Given the description of an element on the screen output the (x, y) to click on. 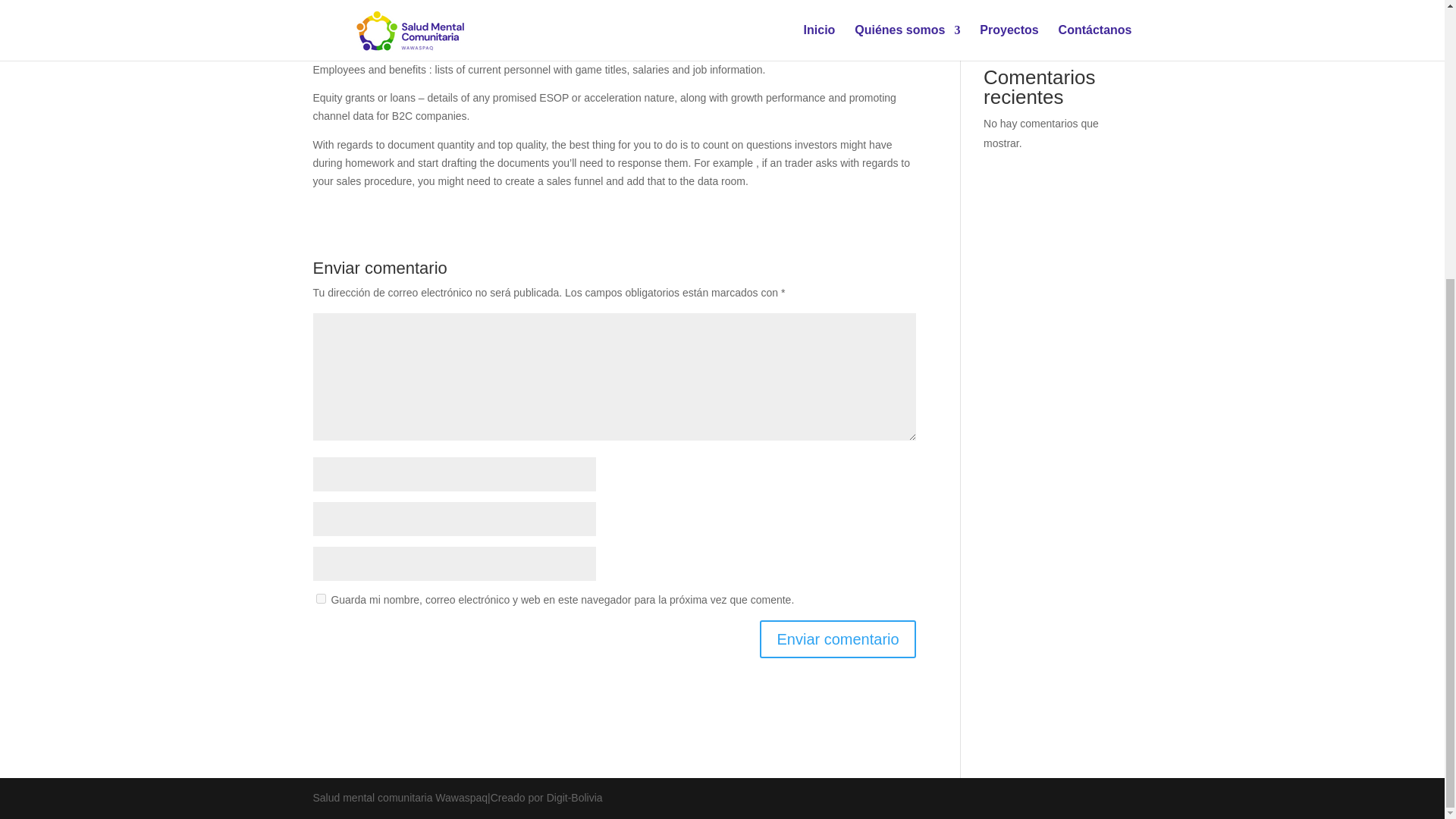
yes (319, 598)
Enviar comentario (837, 638)
Pin-Up Casino App para Android e iPhone Download (1049, 26)
Enviar comentario (837, 638)
